Given the description of an element on the screen output the (x, y) to click on. 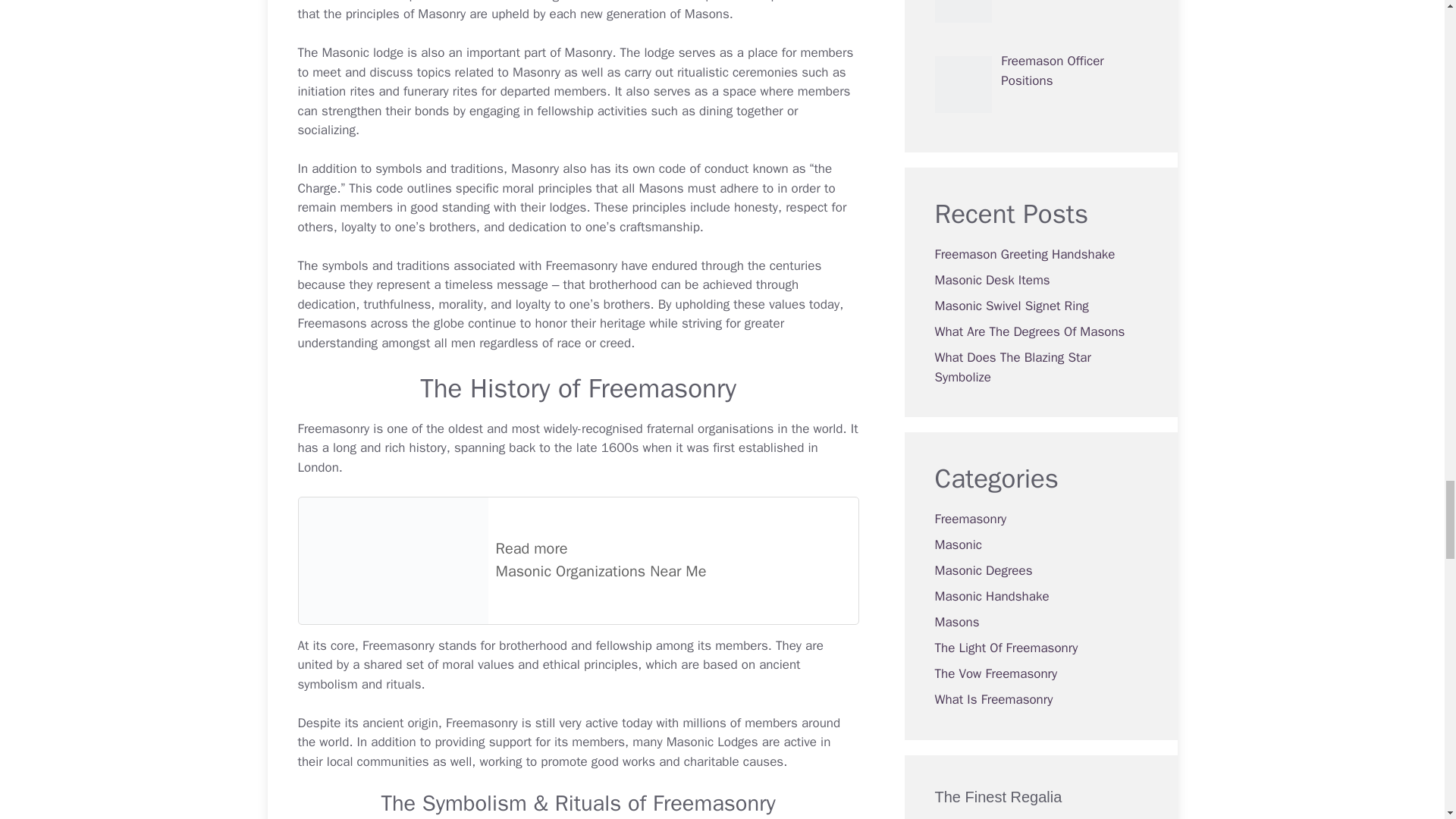
Masonic Initiation Rite (321, 91)
